Given the description of an element on the screen output the (x, y) to click on. 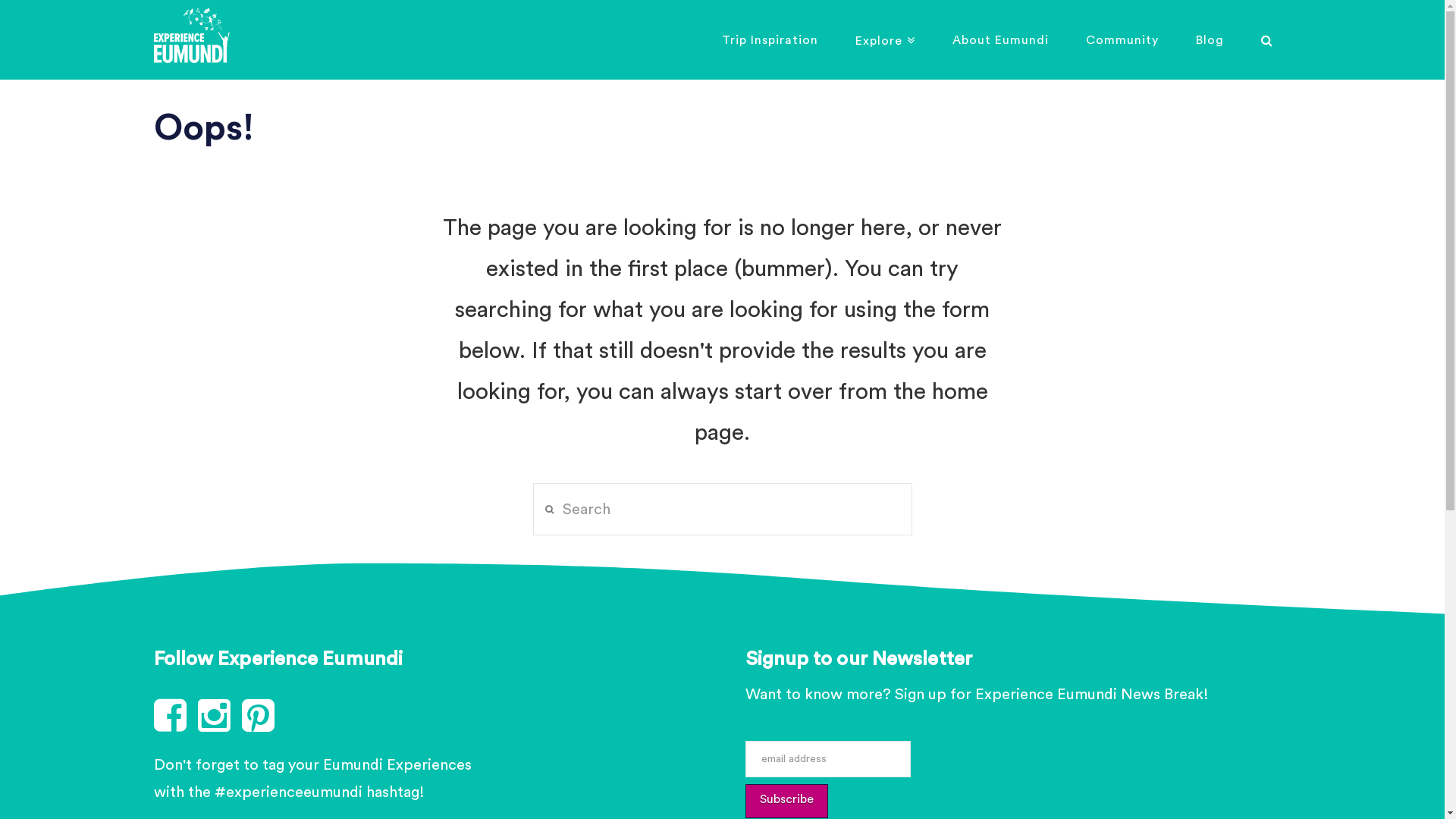
About Eumundi Element type: text (999, 39)
Instagram Element type: hover (219, 717)
Community Element type: text (1121, 39)
Explore Element type: text (884, 39)
Blog Element type: text (1209, 39)
Welcome to Eumundi - Australia Element type: hover (191, 34)
Subscribe Element type: text (785, 801)
Facebook Element type: hover (175, 717)
Trip Inspiration Element type: text (769, 39)
Pinterest Element type: hover (263, 717)
